Given the description of an element on the screen output the (x, y) to click on. 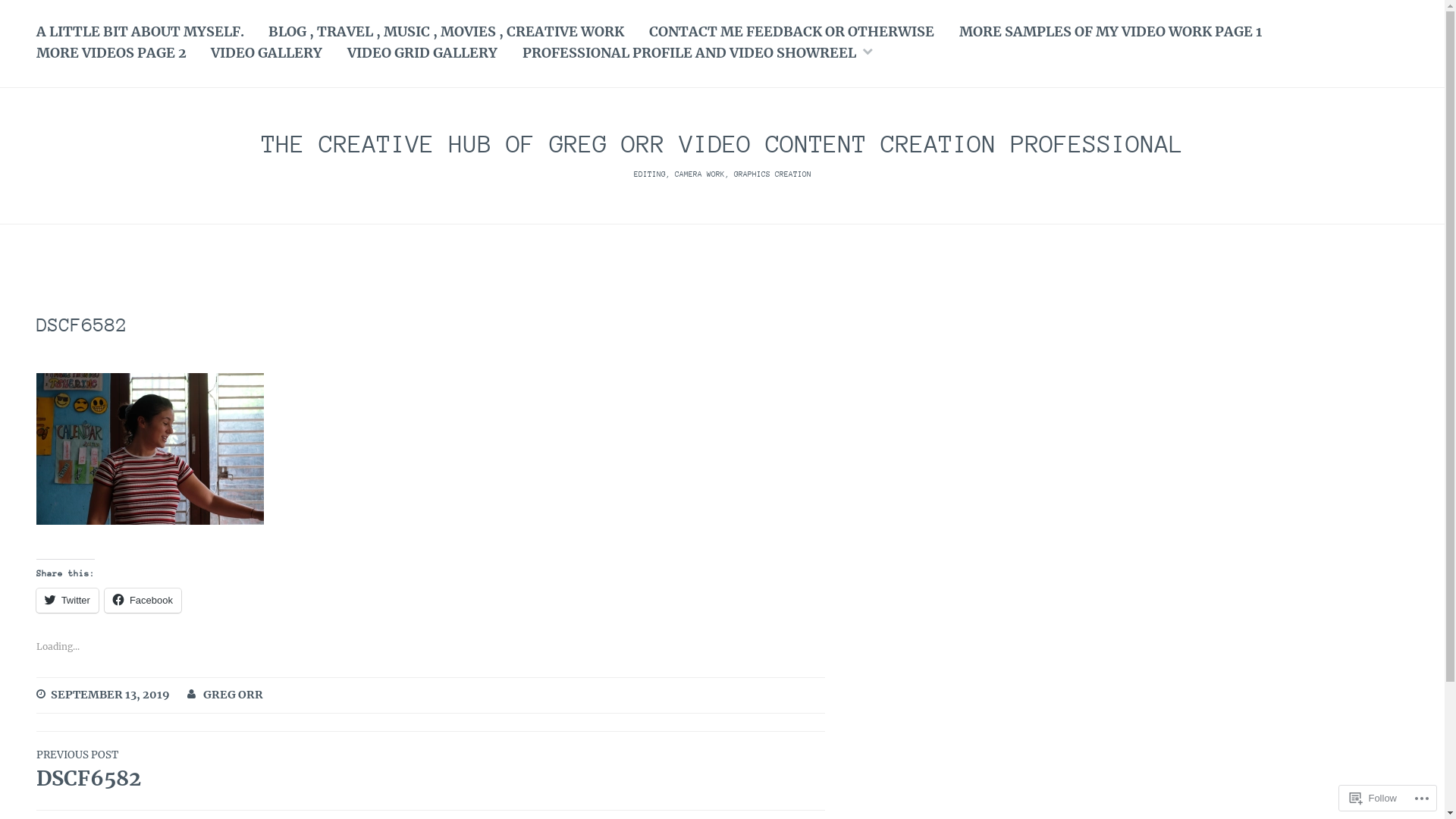
VIDEO GALLERY Element type: text (266, 54)
PREVIOUS POST
DSCF6582 Element type: text (233, 769)
CONTACT ME FEEDBACK OR OTHERWISE Element type: text (791, 32)
Facebook Element type: text (142, 600)
Twitter Element type: text (67, 600)
MORE VIDEOS PAGE 2 Element type: text (111, 54)
PROFESSIONAL PROFILE AND VIDEO SHOWREEL Element type: text (688, 54)
A LITTLE BIT ABOUT MYSELF. Element type: text (140, 32)
VIDEO GRID GALLERY Element type: text (422, 54)
MORE SAMPLES OF MY VIDEO WORK PAGE 1 Element type: text (1109, 32)
Follow Element type: text (1372, 797)
GREG ORR Element type: text (233, 694)
SEPTEMBER 13, 2019 Element type: text (109, 694)
BLOG , TRAVEL , MUSIC , MOVIES , CREATIVE WORK Element type: text (446, 32)
